Given the description of an element on the screen output the (x, y) to click on. 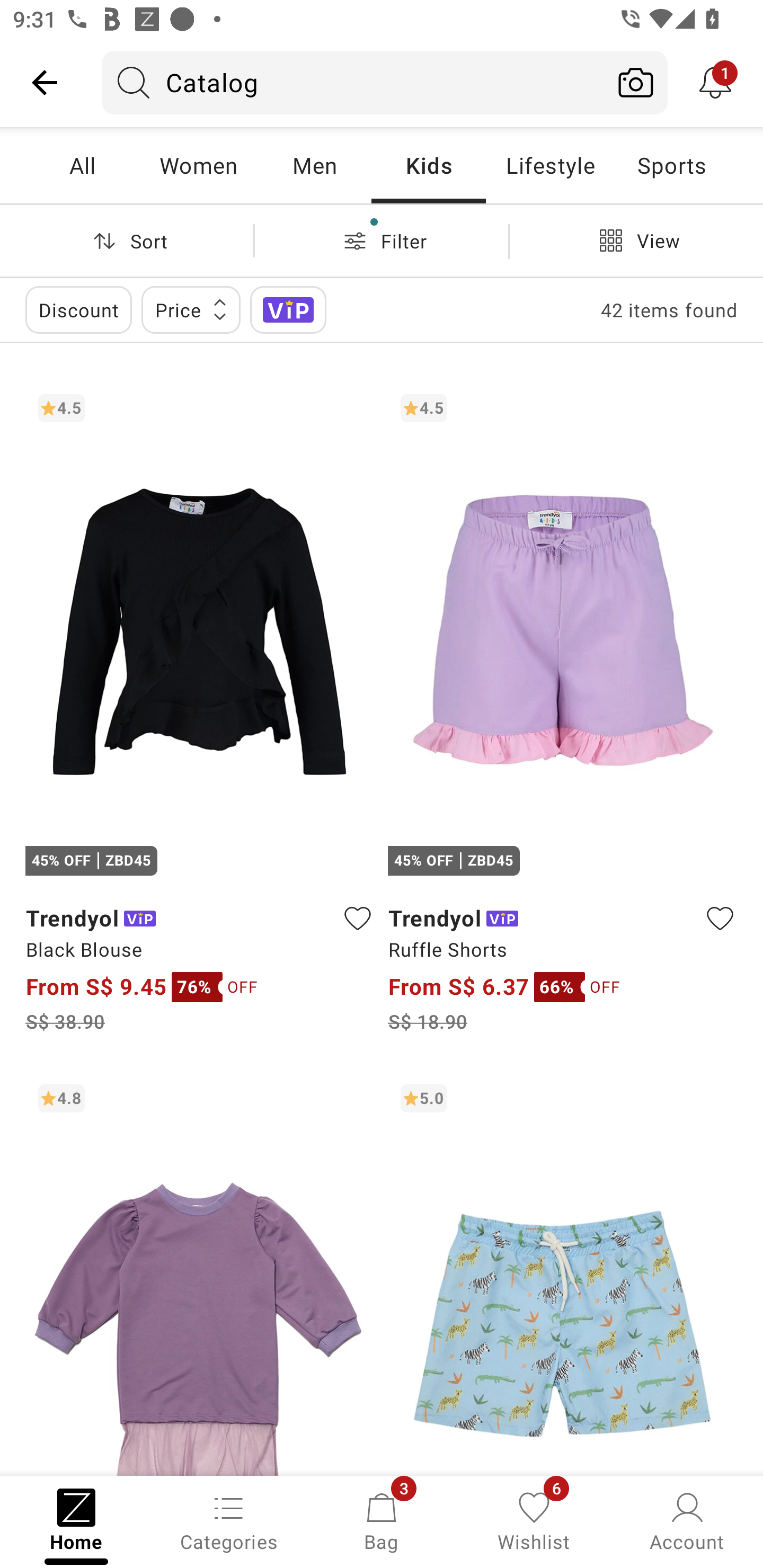
Navigate up (44, 82)
Catalog (352, 82)
All (82, 165)
Women (198, 165)
Men (314, 165)
Lifestyle (550, 165)
Sports (671, 165)
Sort (126, 240)
Filter (381, 240)
View (636, 240)
Discount (78, 309)
Price (190, 309)
4.8 (200, 1272)
5.0 (562, 1272)
Categories (228, 1519)
Bag, 3 new notifications Bag (381, 1519)
Wishlist, 6 new notifications Wishlist (533, 1519)
Account (686, 1519)
